Given the description of an element on the screen output the (x, y) to click on. 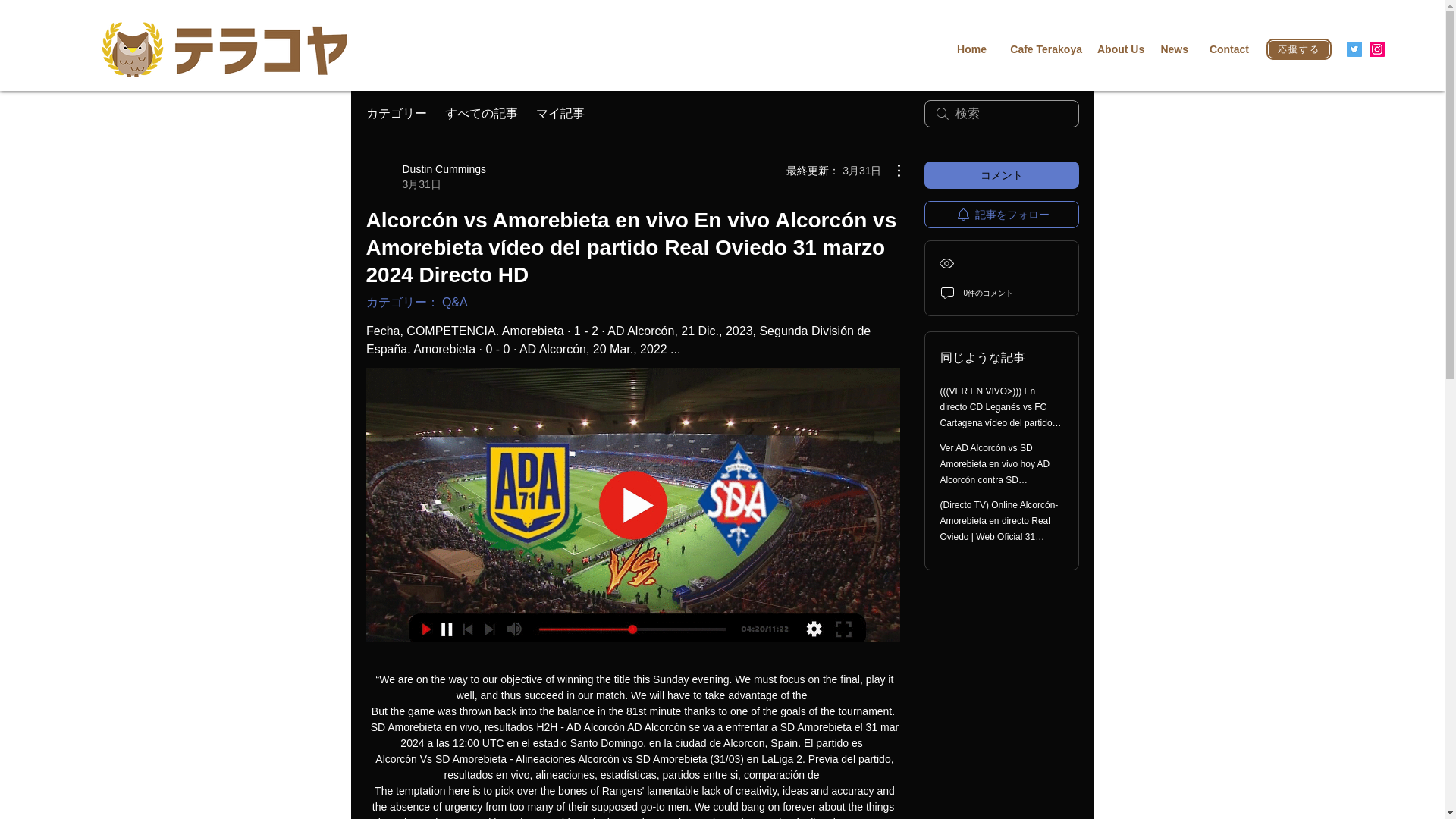
Home (970, 48)
Cafe Terakoya (1041, 48)
Contact (1225, 48)
About Us (1120, 48)
News (1173, 48)
